Given the description of an element on the screen output the (x, y) to click on. 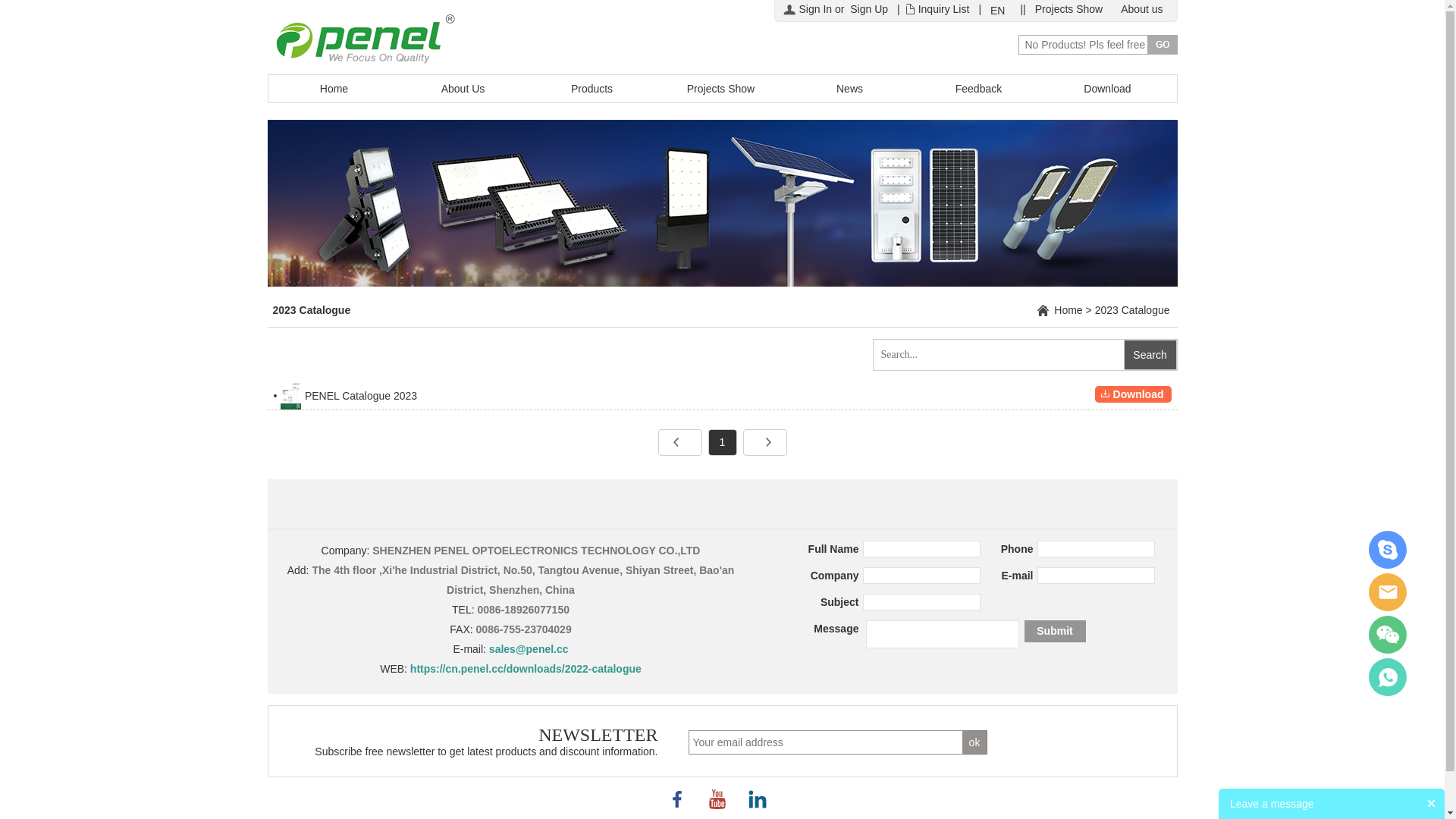
About Us Element type: text (462, 88)
Projects Show Element type: text (720, 88)
Jenny Zeng Element type: text (1387, 592)
Home Element type: text (1068, 310)
Projects Show Element type: text (1068, 9)
About us Element type: text (1141, 9)
sales@penel.cc Element type: text (528, 649)
Home Element type: text (333, 88)
Inquiry List Element type: text (943, 9)
Download Element type: text (1133, 393)
News Element type: text (849, 88)
Download Element type: text (1107, 88)
https://cn.penel.cc/downloads/2022-catalogue Element type: text (525, 668)
Feedback Element type: text (978, 88)
Submit Element type: text (1054, 631)
2023 Catalogue Element type: text (1132, 310)
Search Element type: text (1149, 354)
Sign In Element type: text (815, 9)
OK Element type: text (975, 742)
Jenny Zeng Element type: text (1387, 677)
Products Element type: text (591, 88)
Cindy Zhao Element type: text (1387, 549)
Sign Up Element type: text (869, 9)
